Given the description of an element on the screen output the (x, y) to click on. 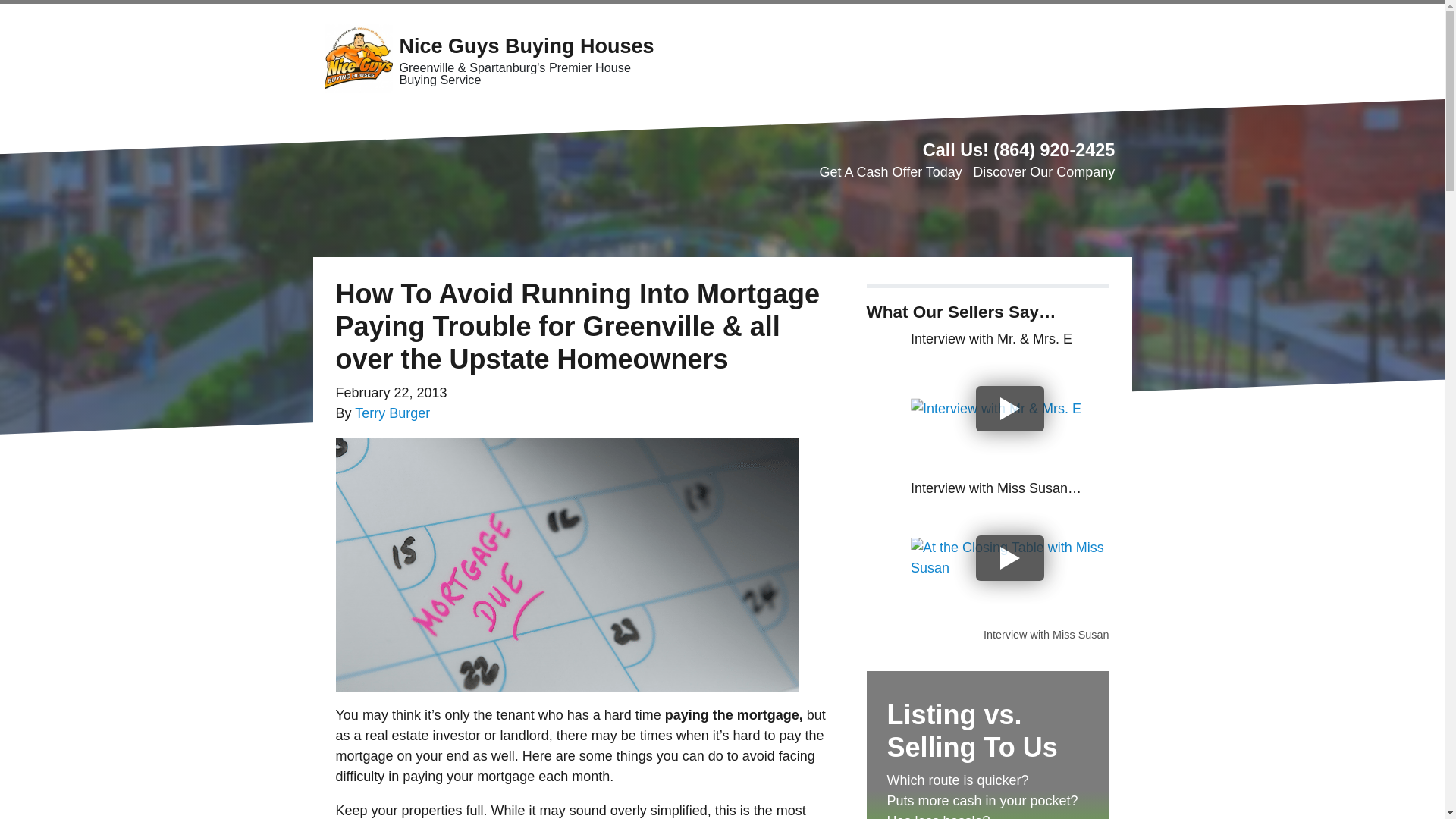
Get A Cash Offer Today (889, 171)
mortgage (565, 564)
Terry Burger (392, 412)
Discover Our Company (1043, 171)
